Given the description of an element on the screen output the (x, y) to click on. 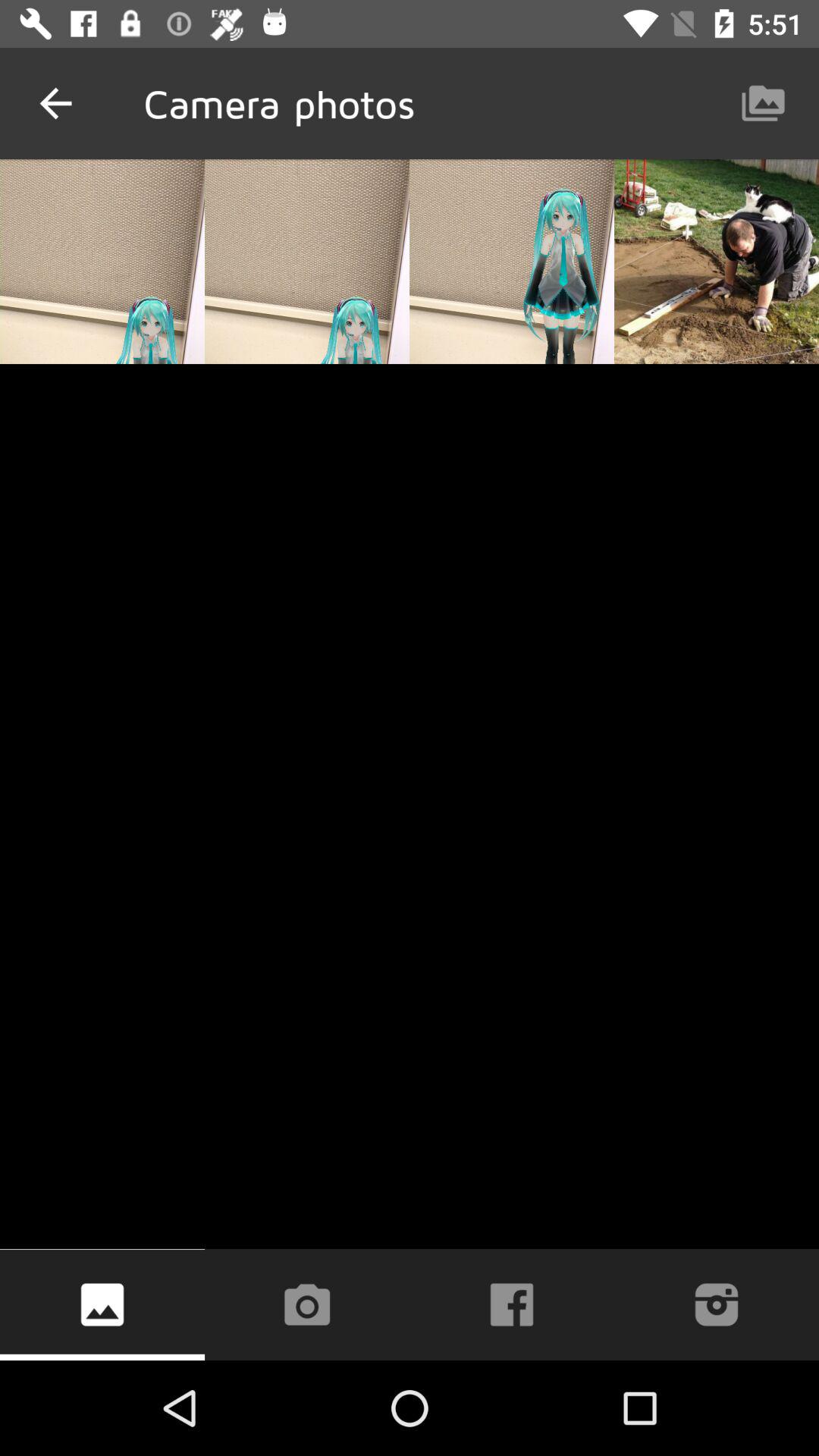
share to instagram (716, 1304)
